Given the description of an element on the screen output the (x, y) to click on. 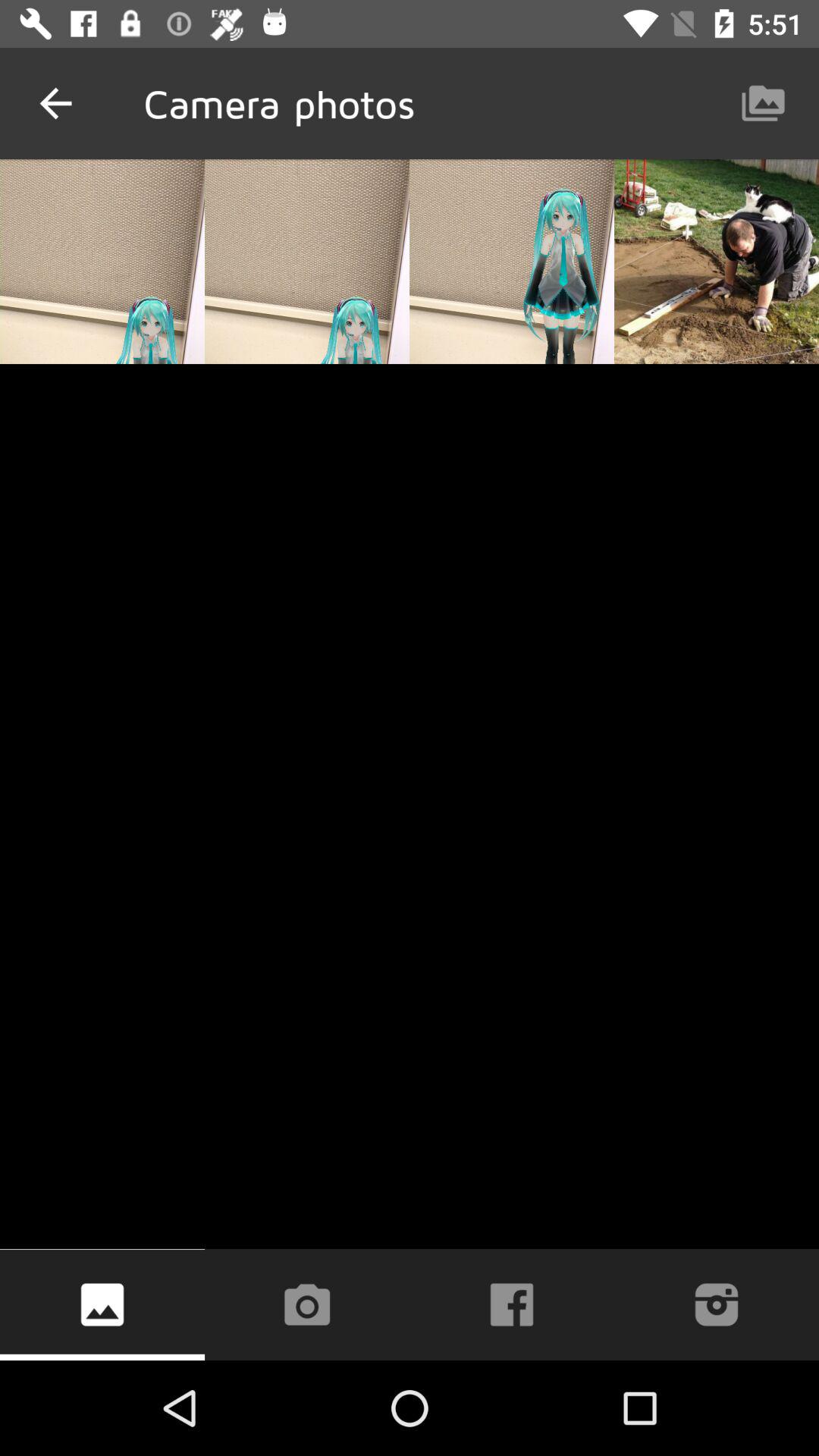
share to instagram (716, 1304)
